Given the description of an element on the screen output the (x, y) to click on. 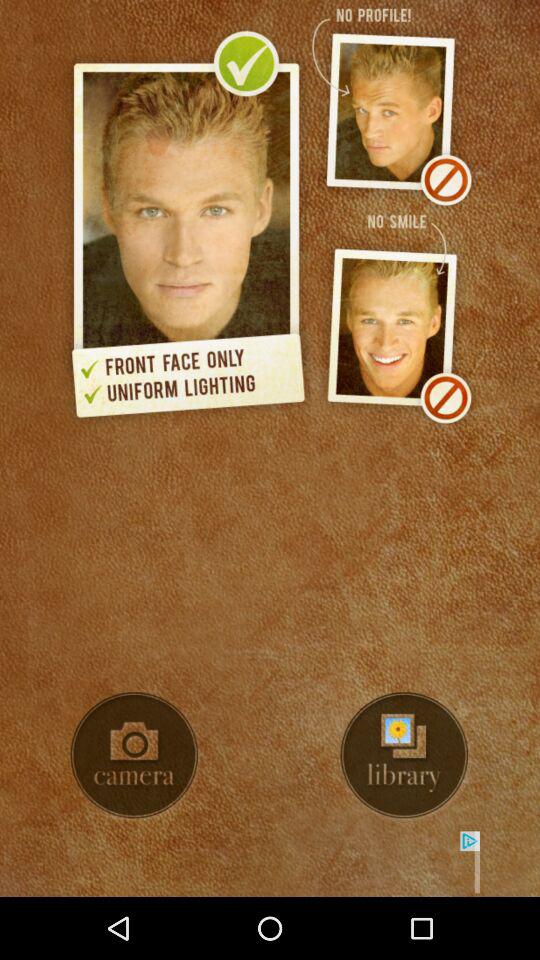
turn off icon at the bottom right corner (404, 754)
